Given the description of an element on the screen output the (x, y) to click on. 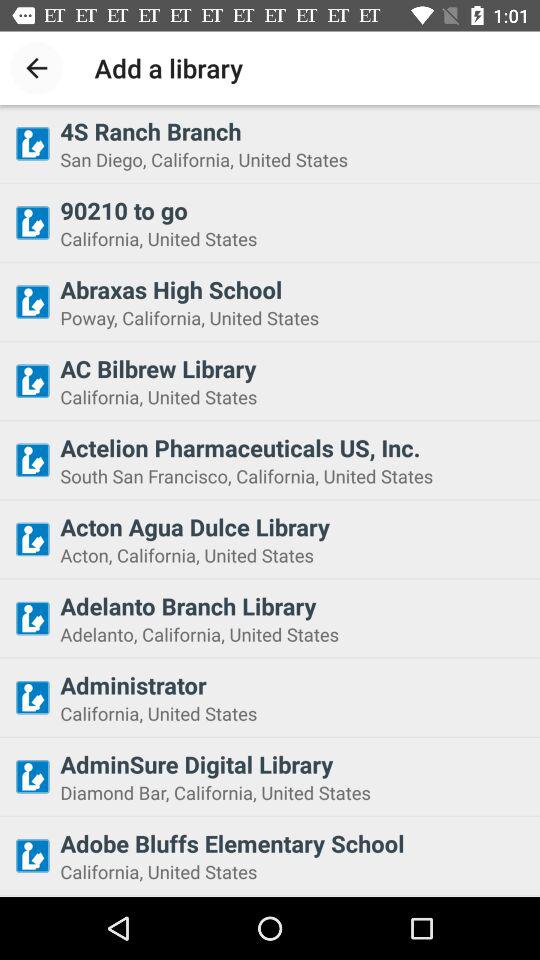
tap item above the california, united states item (294, 843)
